Given the description of an element on the screen output the (x, y) to click on. 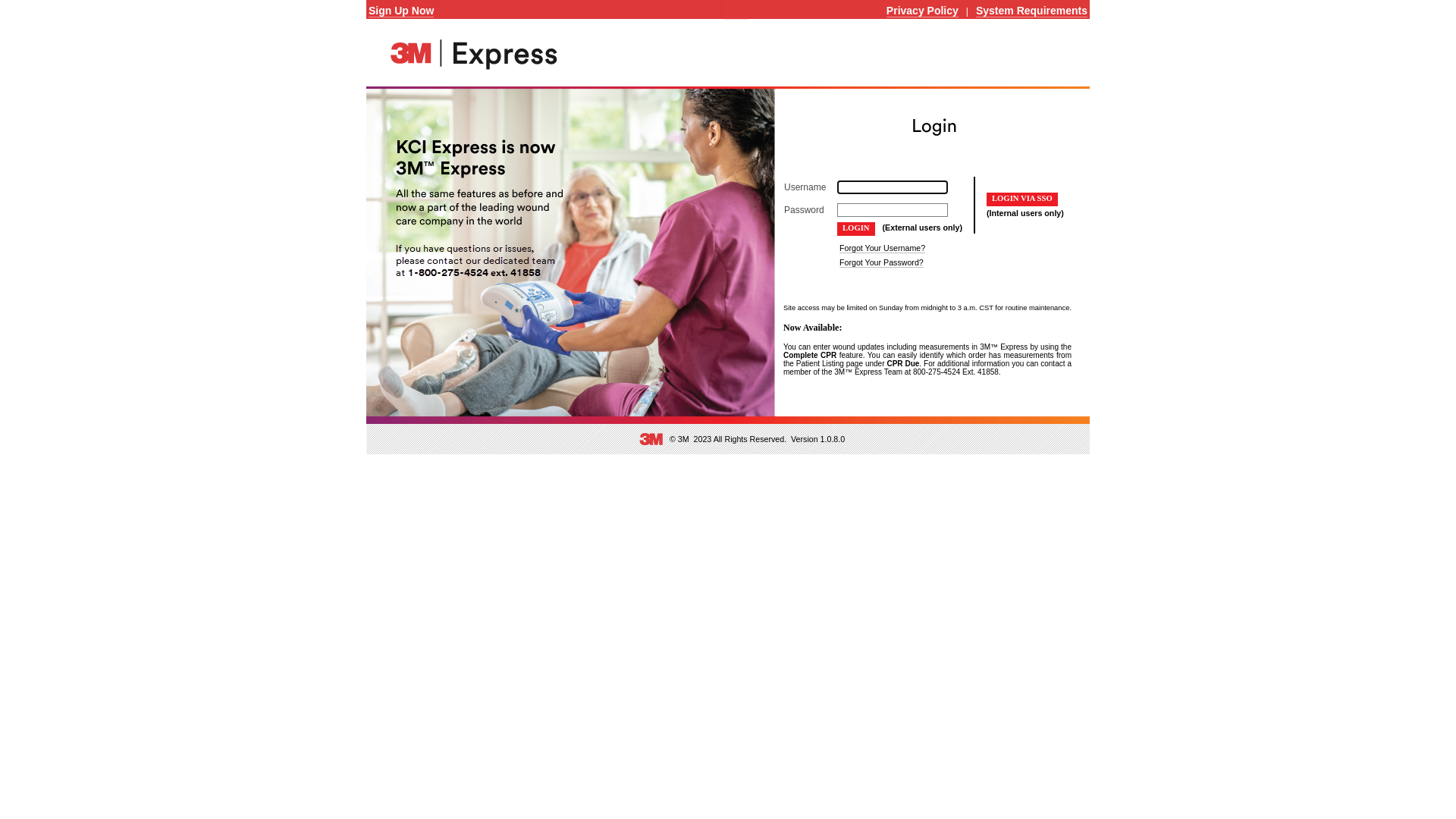
PopUp Element type: text (18, 6)
Forgot Your Username? Element type: text (882, 248)
Sign Up Now Element type: text (400, 10)
Forgot Your Password? Element type: text (881, 262)
Applicable only for External Users Element type: hover (856, 228)
Login Element type: text (856, 228)
System Requirements Element type: text (1031, 10)
Login via SSO Element type: text (1021, 199)
Privacy Policy Element type: text (922, 10)
